Given the description of an element on the screen output the (x, y) to click on. 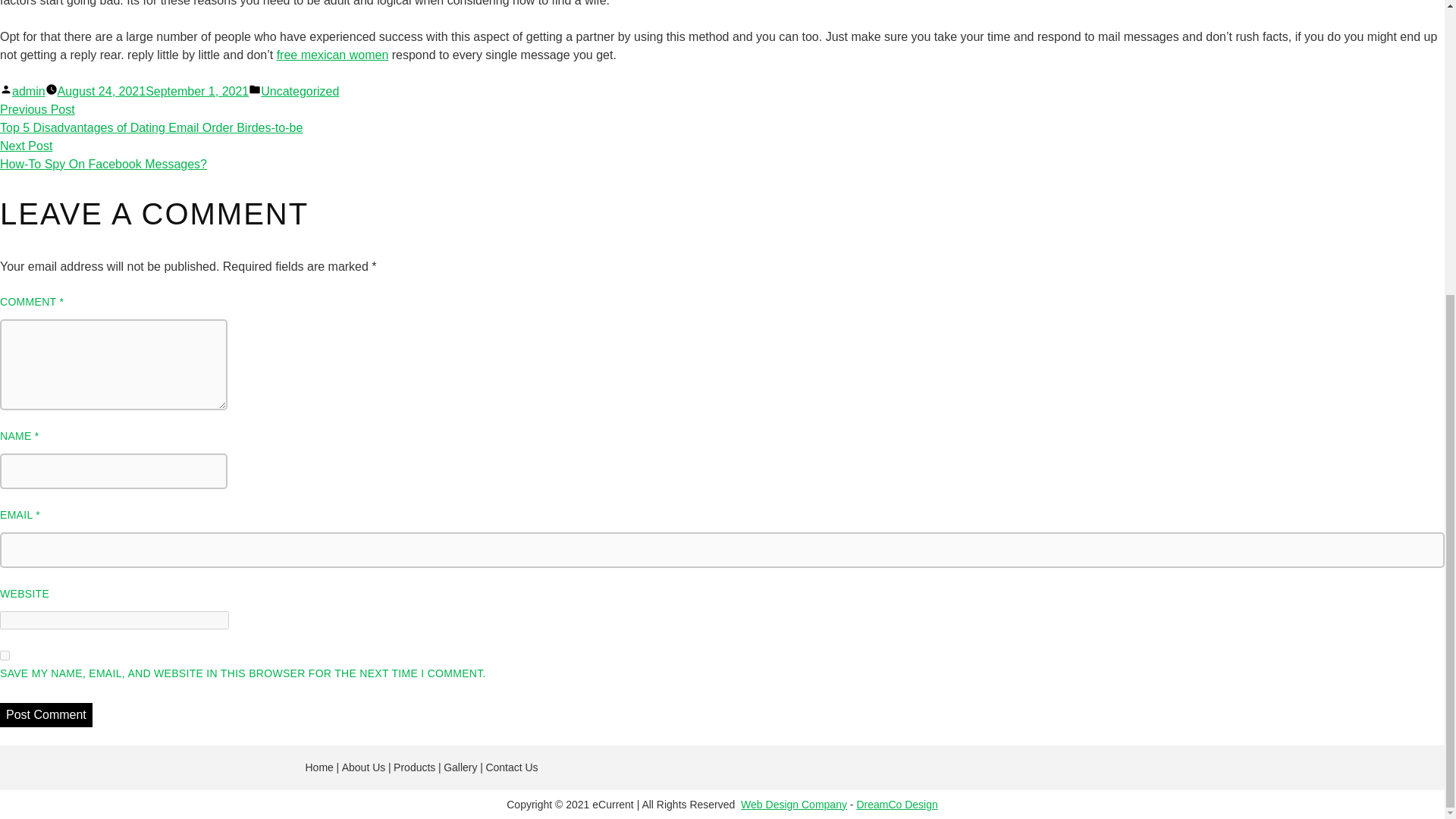
professional web design company (896, 803)
Contact Us (510, 767)
Products (414, 767)
About Us (363, 767)
August 24, 2021September 1, 2021 (153, 91)
web design for authors (794, 803)
DreamCo Design (896, 803)
free mexican women (332, 54)
admin (28, 91)
Web Design Company (794, 803)
